Given the description of an element on the screen output the (x, y) to click on. 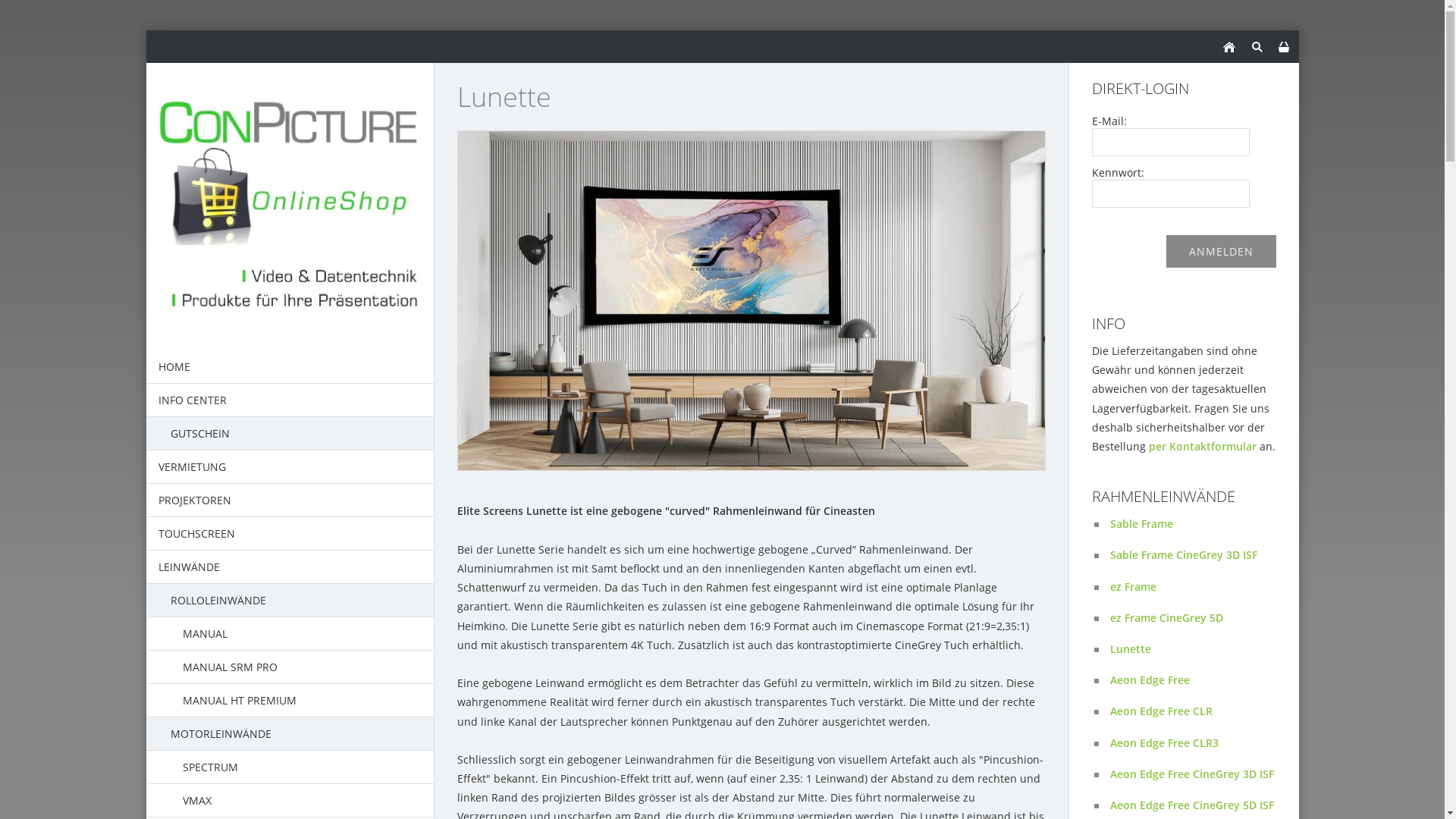
Aeon Edge Free CLR Element type: text (1193, 710)
Aeon Edge Free CineGrey 5D ISF Element type: text (1193, 804)
INFO CENTER Element type: text (289, 400)
VMAX Element type: text (289, 800)
MANUAL Element type: text (289, 633)
ez Frame CineGrey 5D Element type: text (1193, 617)
per Kontaktformular Element type: text (1201, 446)
Aeon Edge Free CLR3 Element type: text (1193, 742)
PROJEKTOREN Element type: text (289, 500)
SPECTRUM Element type: text (289, 767)
Lunette Element type: text (1193, 648)
GUTSCHEIN Element type: text (289, 433)
Anmelden Element type: text (1221, 251)
ez Frame Element type: text (1193, 586)
Sable Frame Element type: text (1193, 523)
VERMIETUNG Element type: text (289, 466)
MANUAL HT PREMIUM Element type: text (289, 700)
Aeon Edge Free CineGrey 3D ISF Element type: text (1193, 773)
Aeon Edge Free Element type: text (1193, 679)
TOUCHSCREEN Element type: text (289, 533)
HOME Element type: text (289, 366)
MANUAL SRM PRO Element type: text (289, 667)
Sable Frame CineGrey 3D ISF Element type: text (1193, 554)
